Given the description of an element on the screen output the (x, y) to click on. 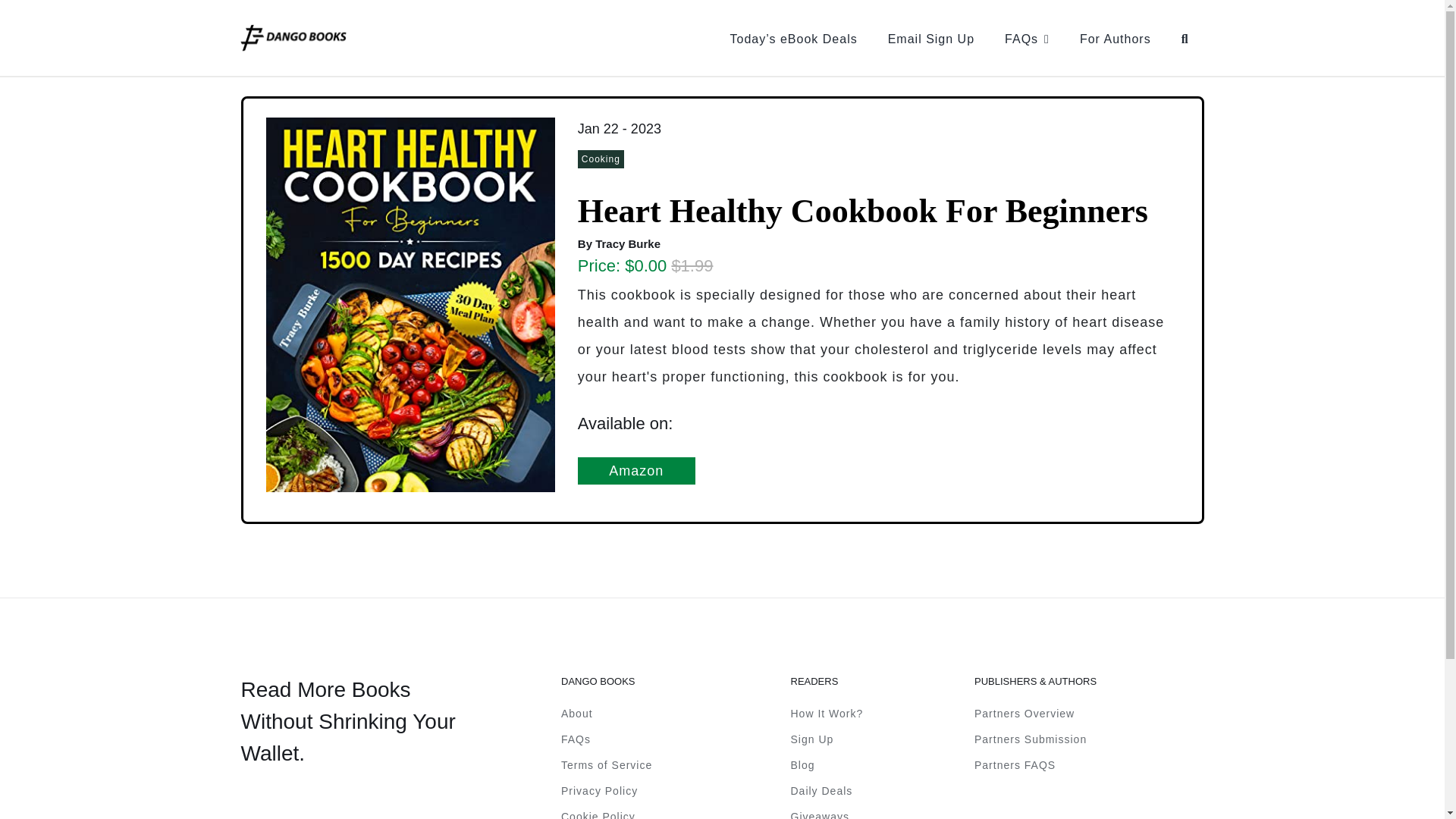
Amazon (636, 470)
FAQs (1027, 38)
Cooking (602, 157)
For Authors (1115, 38)
Email Sign Up (931, 38)
